Given the description of an element on the screen output the (x, y) to click on. 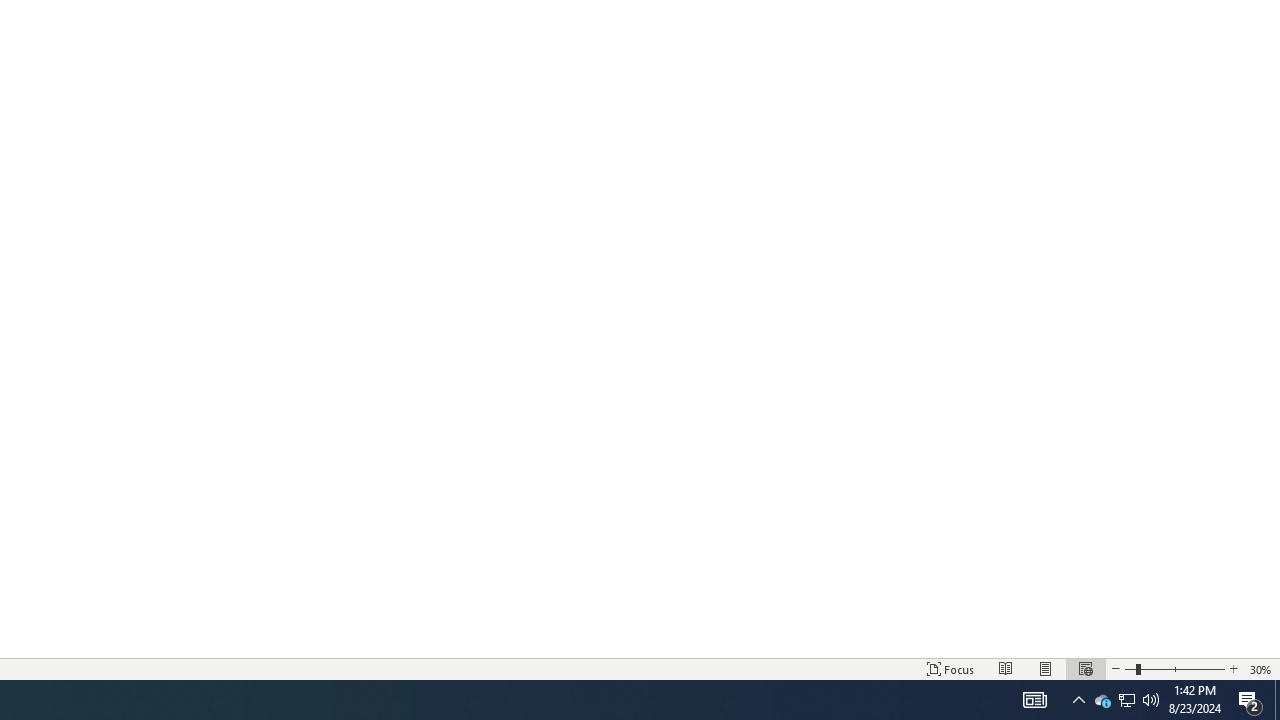
Zoom 30% (1261, 668)
Zoom (1174, 668)
